Given the description of an element on the screen output the (x, y) to click on. 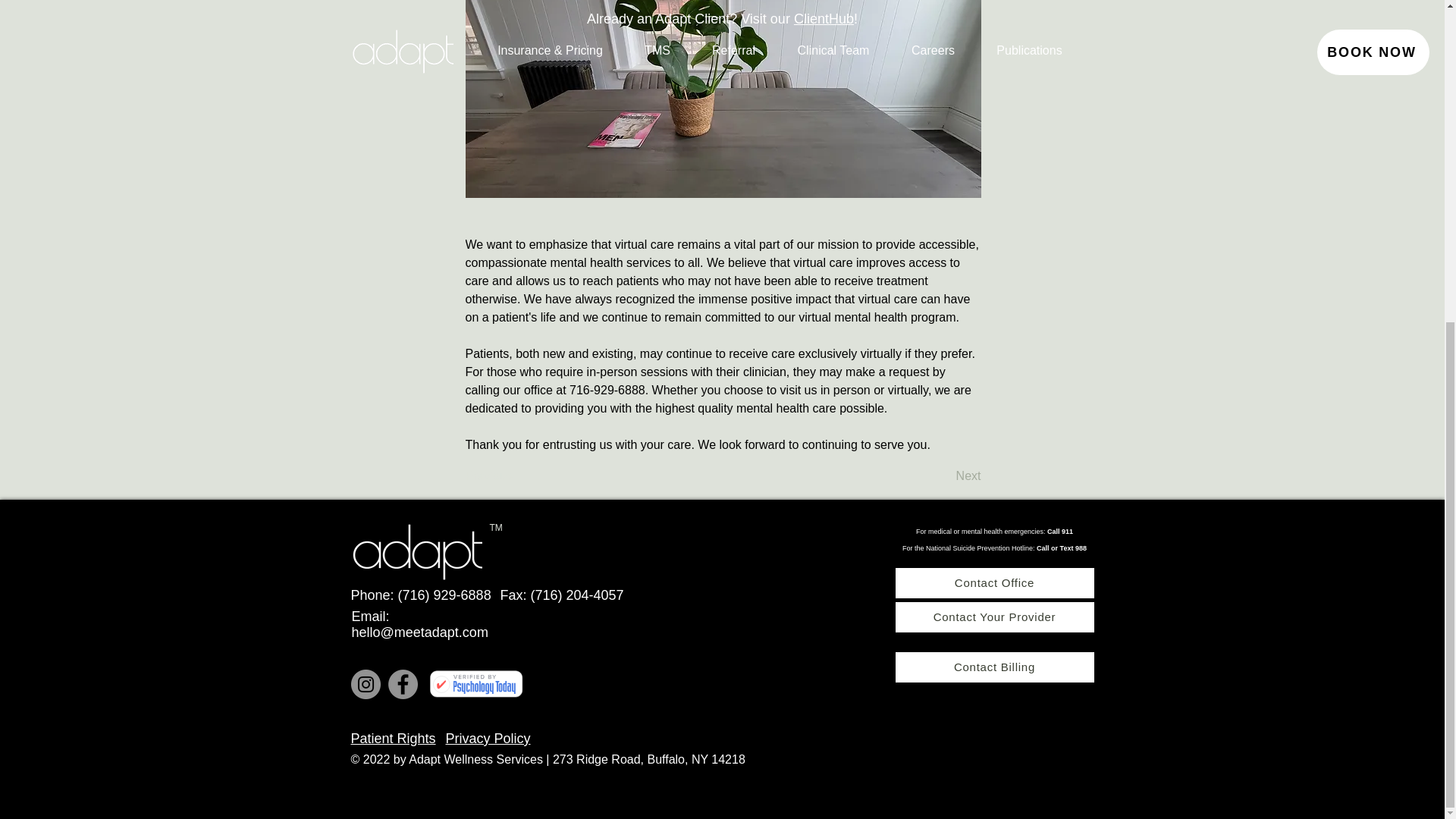
Contact Office (994, 583)
Patient Rights (392, 738)
Next (943, 476)
Contact Billing (994, 666)
Contact Your Provider (994, 616)
716-929-6888 (607, 390)
Adapt Psychiatry Logo (415, 547)
Previous (515, 476)
Privacy Policy (488, 738)
